Given the description of an element on the screen output the (x, y) to click on. 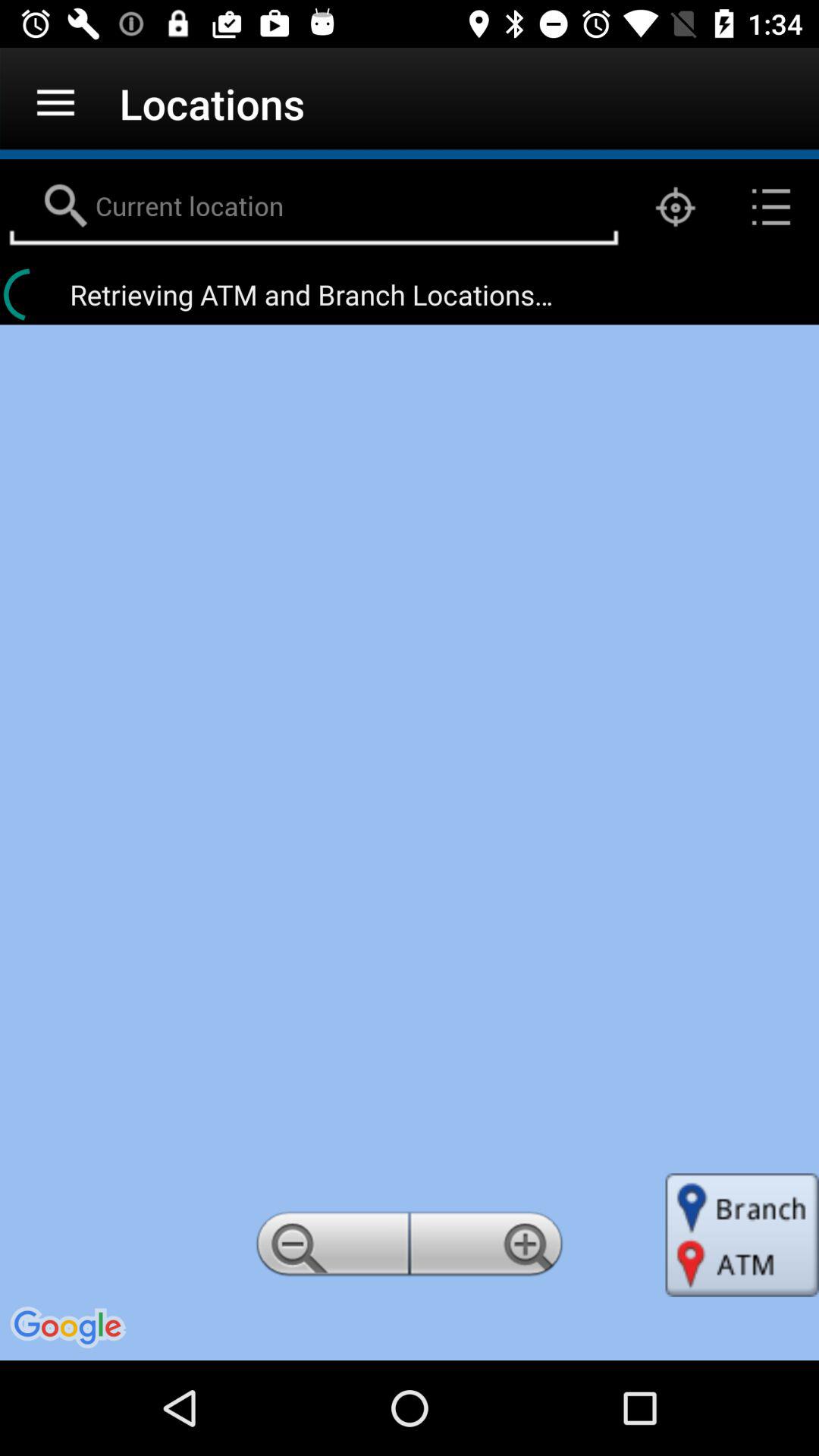
this is to zoom in the available page (488, 1248)
